Given the description of an element on the screen output the (x, y) to click on. 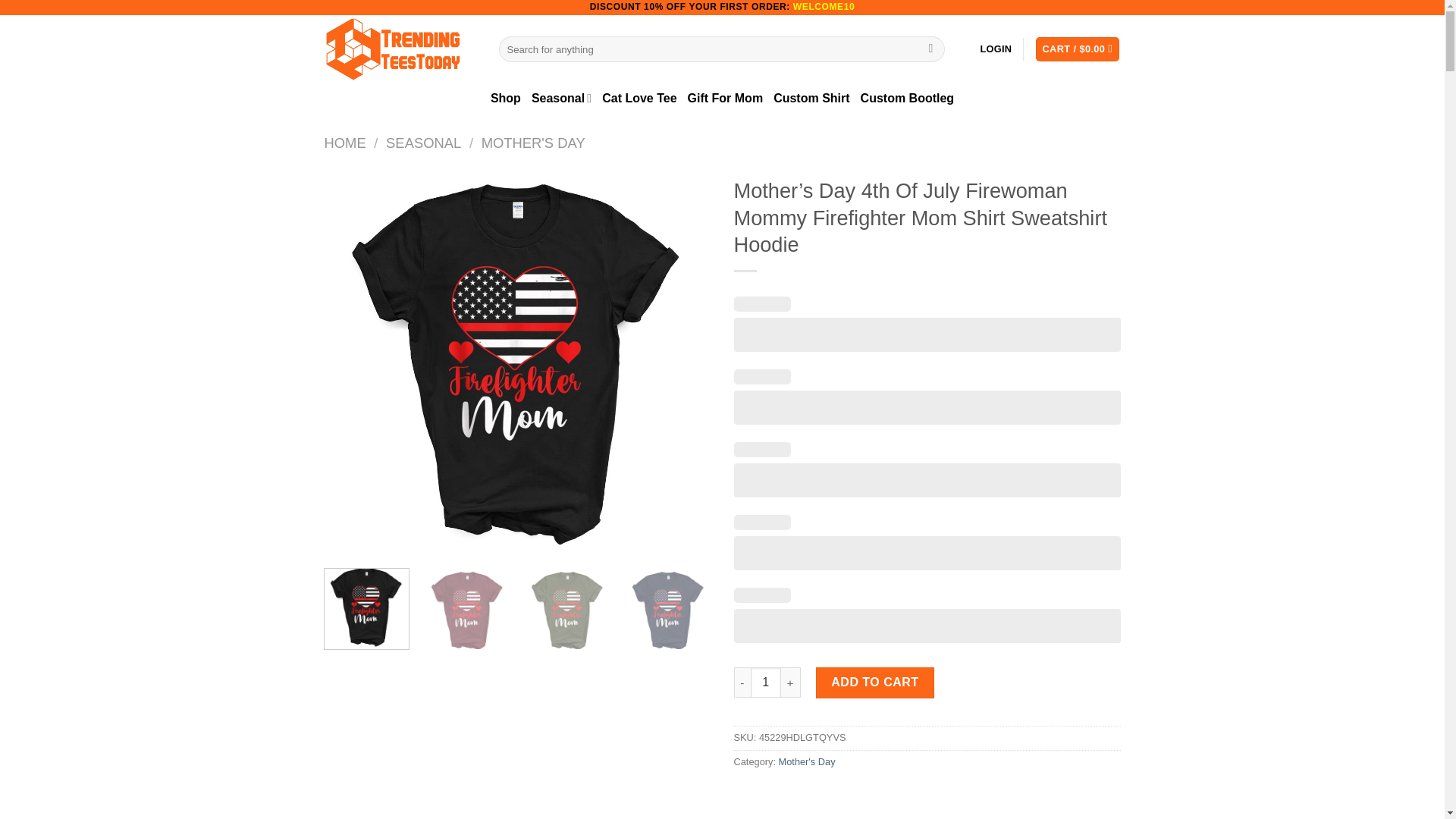
TrendingTeesToday (400, 49)
Cat Love Tee (639, 98)
Shop (505, 98)
ADD TO CART (874, 682)
1 (765, 682)
SEASONAL (423, 142)
HOME (345, 142)
Gift For Mom (724, 98)
LOGIN (995, 49)
Custom Bootleg (907, 98)
